Given the description of an element on the screen output the (x, y) to click on. 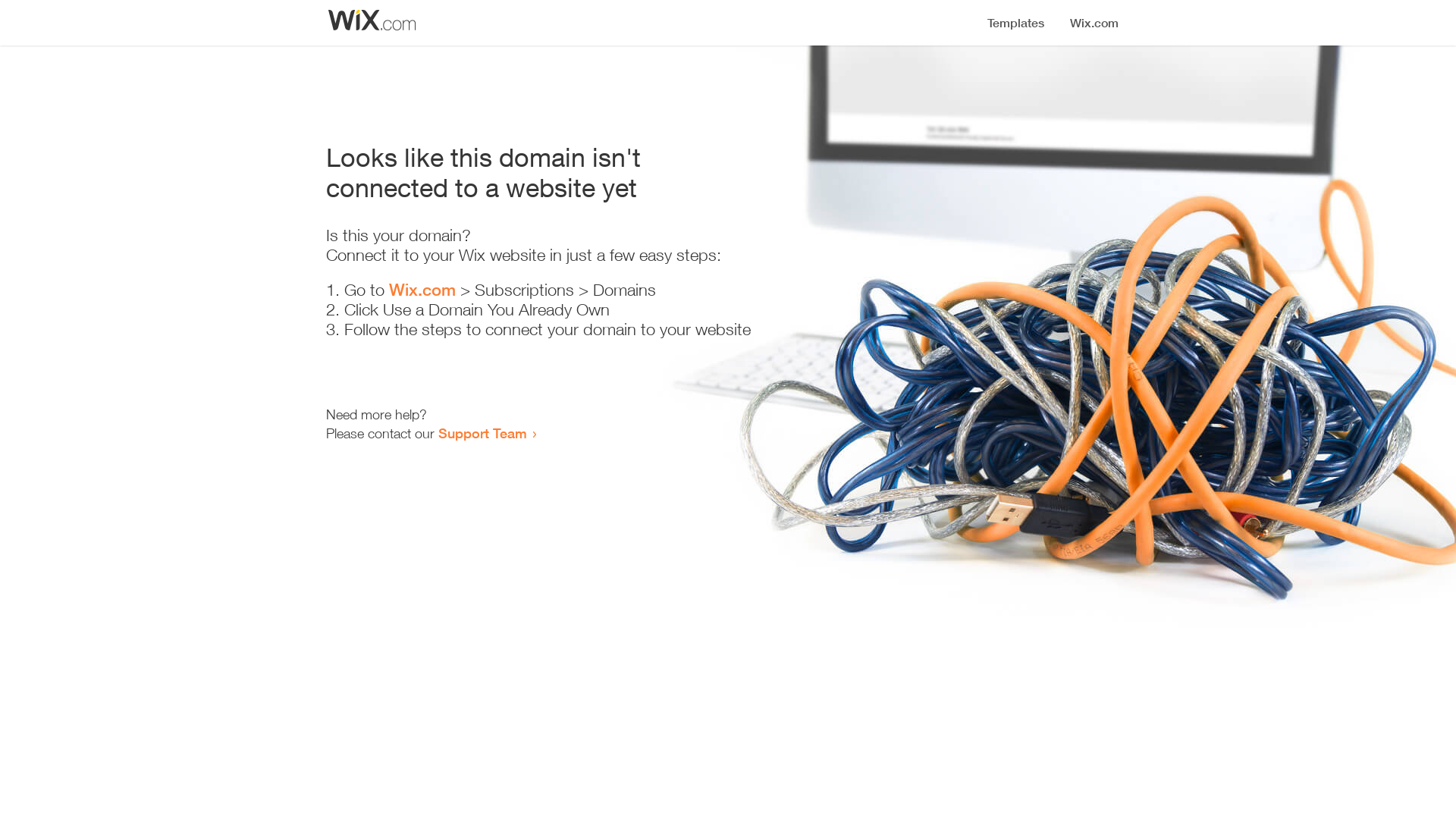
Wix.com Element type: text (422, 289)
Support Team Element type: text (482, 432)
